Given the description of an element on the screen output the (x, y) to click on. 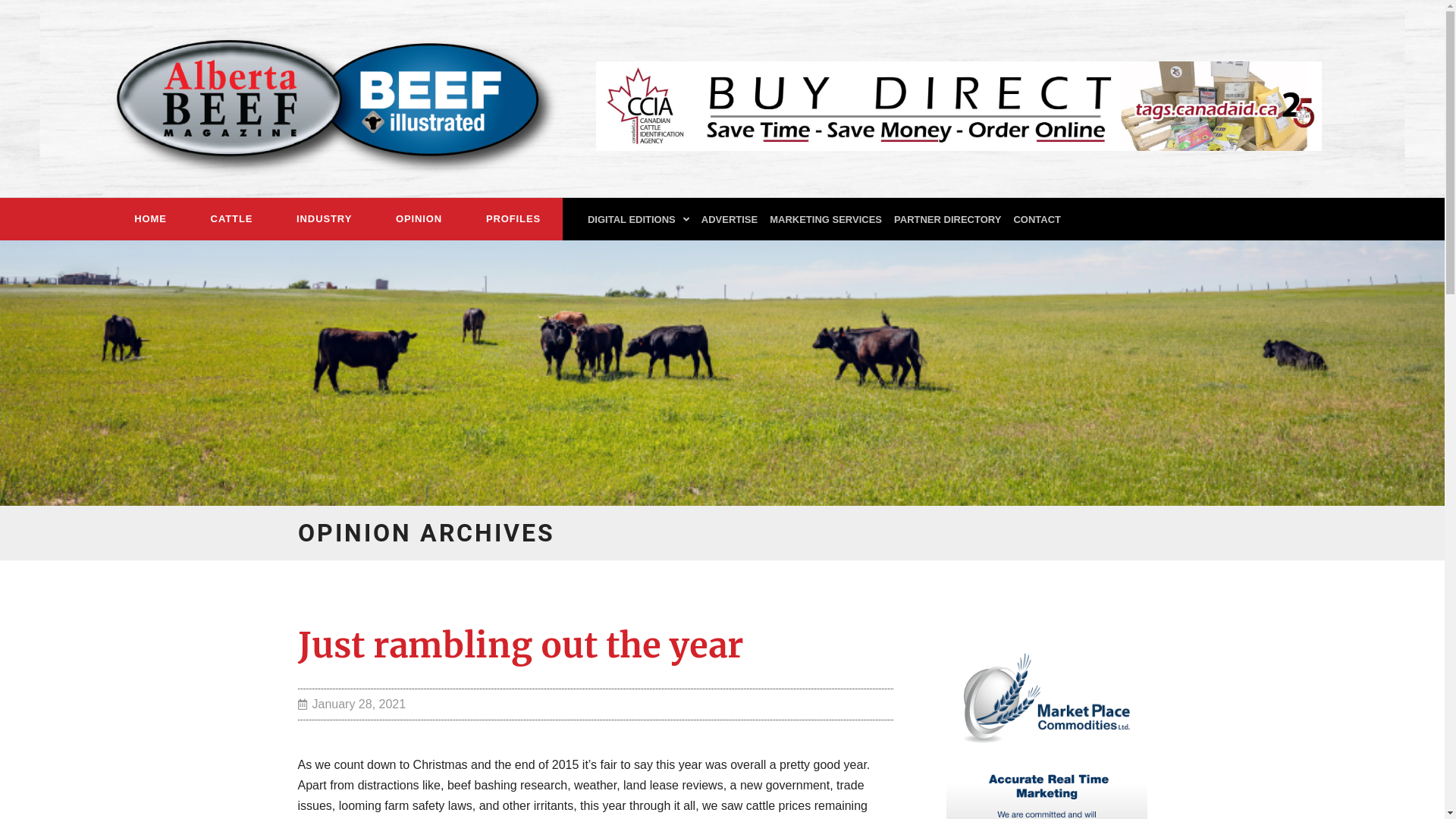
CATTLE Element type: text (231, 218)
January 28, 2021 Element type: text (351, 703)
PROFILES Element type: text (513, 218)
PARTNER DIRECTORY Element type: text (947, 219)
INDUSTRY Element type: text (323, 218)
CONTACT Element type: text (1036, 219)
OPINION Element type: text (418, 218)
DIGITAL EDITIONS Element type: text (638, 219)
ADVERTISE Element type: text (729, 219)
HOME Element type: text (150, 218)
MARKETING SERVICES Element type: text (825, 219)
logo Element type: hover (325, 98)
